Given the description of an element on the screen output the (x, y) to click on. 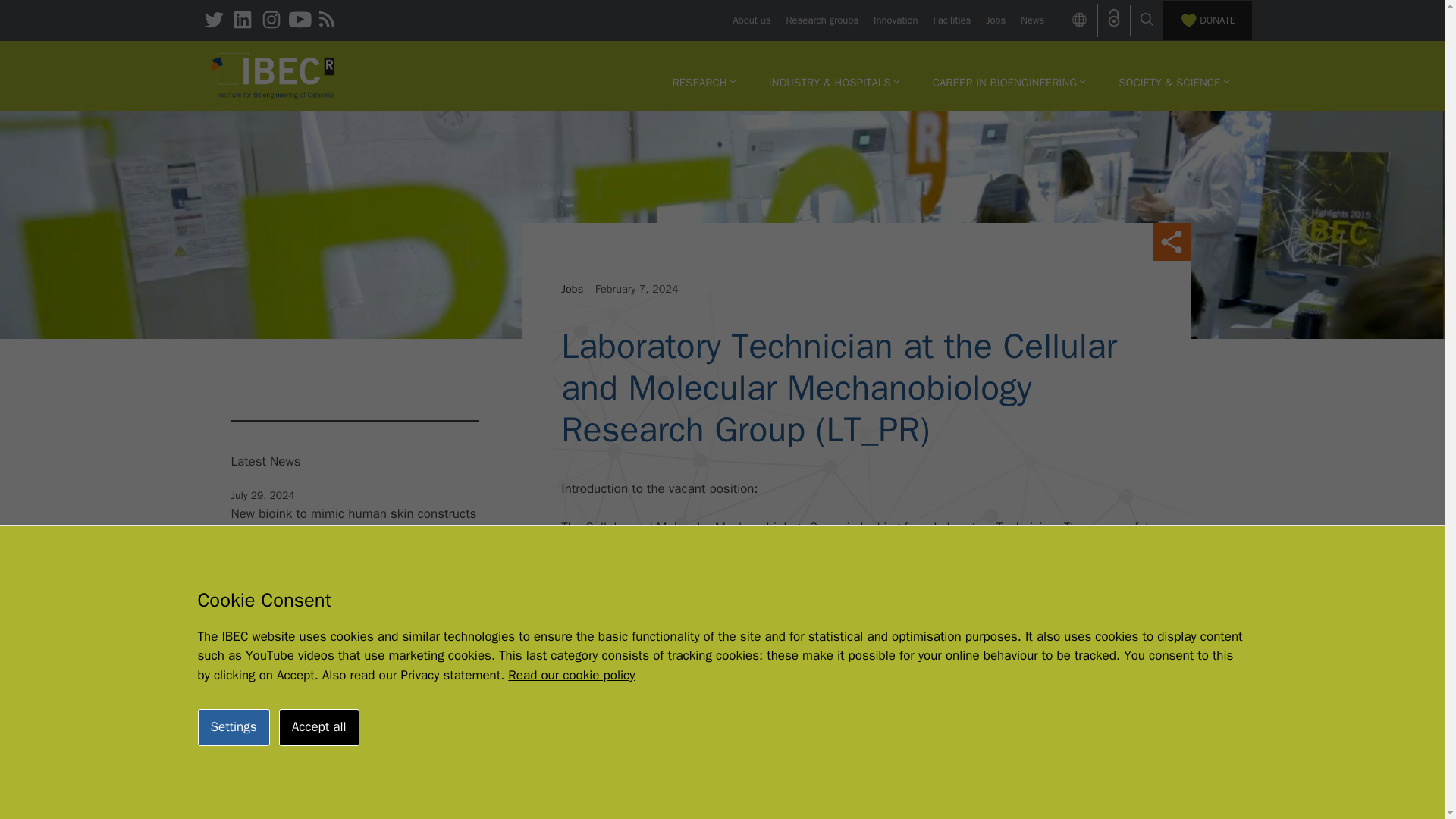
About us (751, 19)
Facilities (952, 19)
RESEARCH (704, 81)
Jobs (995, 19)
Research groups (822, 19)
Institute for Bioengineering of Catalonia (272, 75)
News (1031, 19)
Institute for Bioengineering of Catalonia (272, 74)
Innovation (895, 19)
DONATE (1207, 20)
